Given the description of an element on the screen output the (x, y) to click on. 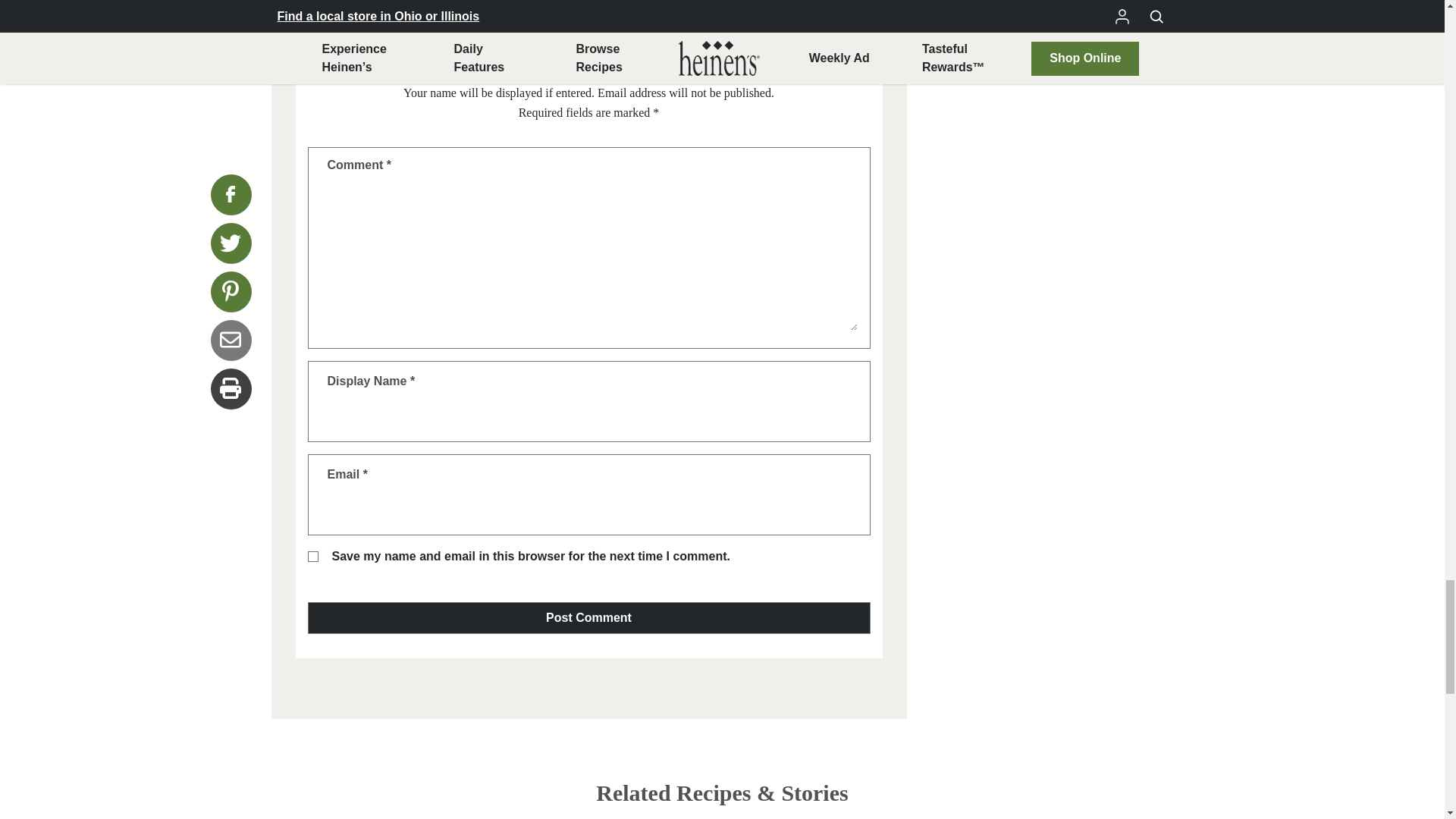
yes (312, 556)
Post Comment (588, 617)
